Given the description of an element on the screen output the (x, y) to click on. 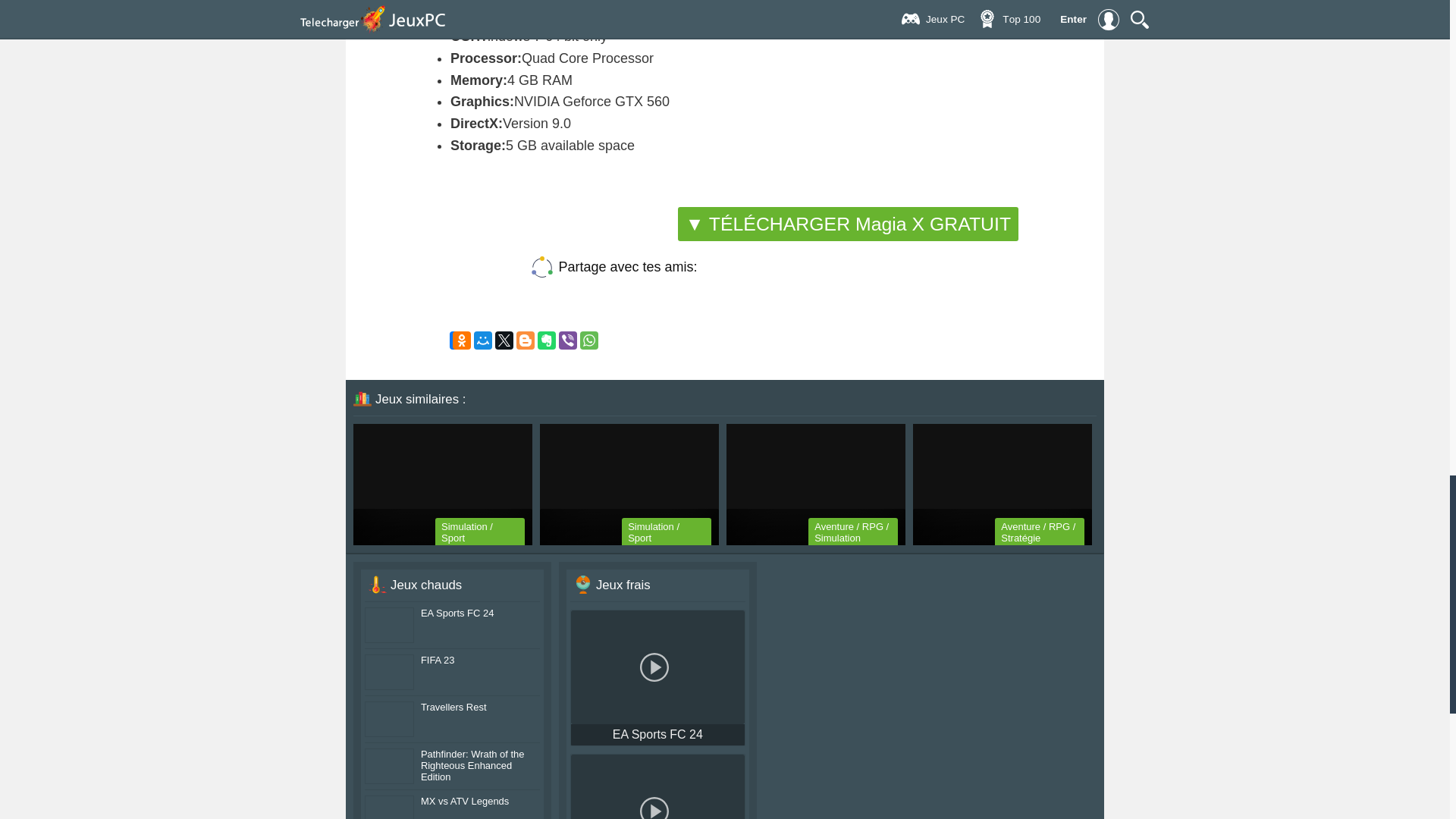
WhatsApp (588, 340)
Evernote (546, 340)
Viber (567, 340)
Blogger (525, 340)
Twitter (504, 340)
